Given the description of an element on the screen output the (x, y) to click on. 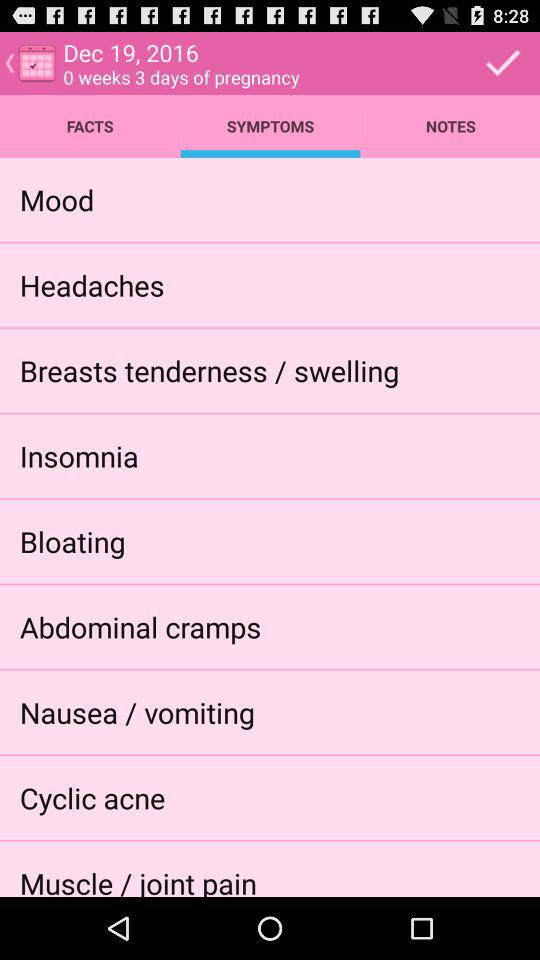
turn on bloating icon (72, 540)
